Given the description of an element on the screen output the (x, y) to click on. 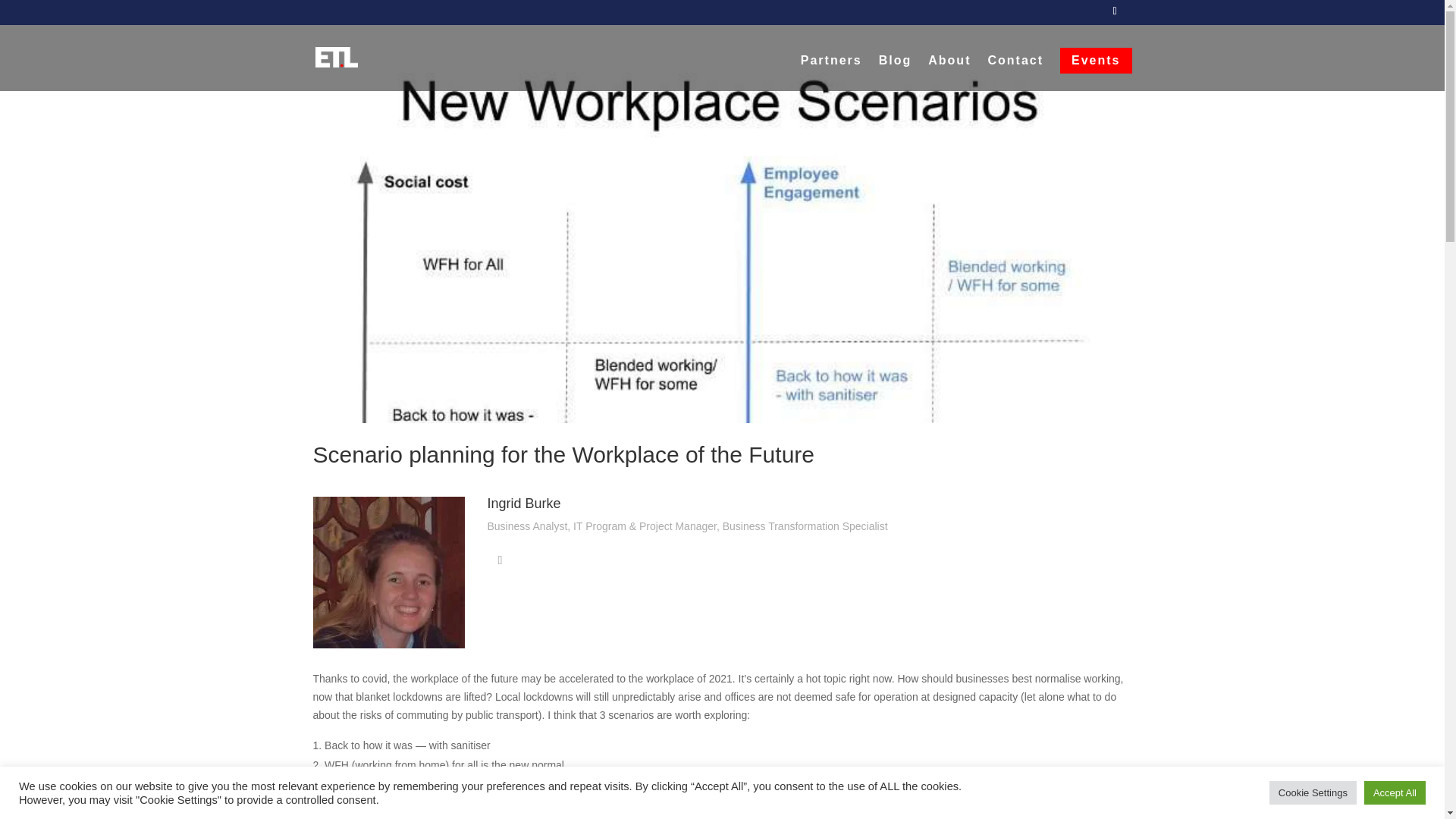
Events (1095, 60)
Cookie Settings (1312, 792)
Blog (895, 72)
Contact (1015, 72)
Accept All (1394, 792)
About (949, 72)
Partners (830, 72)
